Given the description of an element on the screen output the (x, y) to click on. 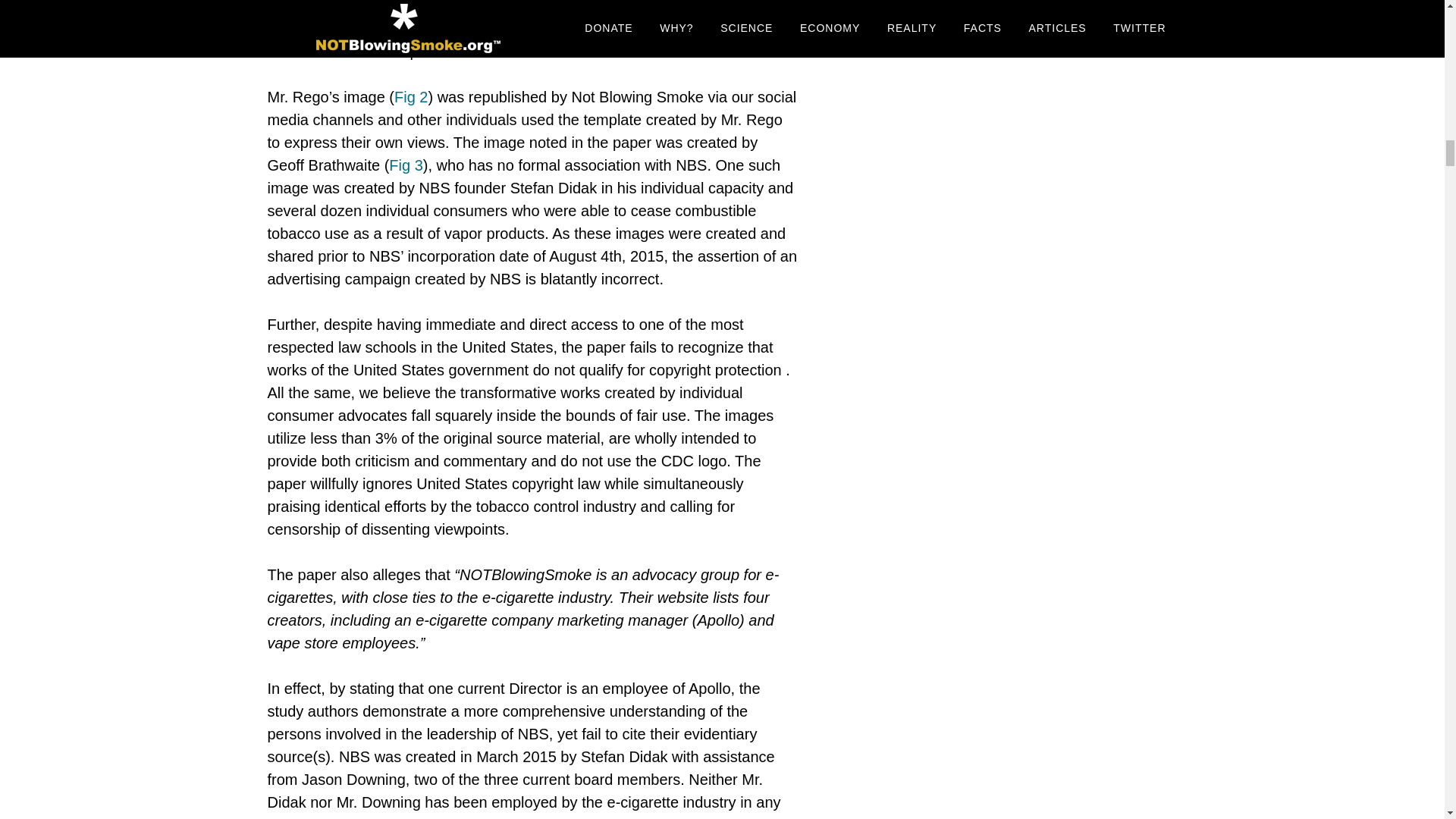
Fig 3 (405, 165)
Fig 2 (411, 96)
